Given the description of an element on the screen output the (x, y) to click on. 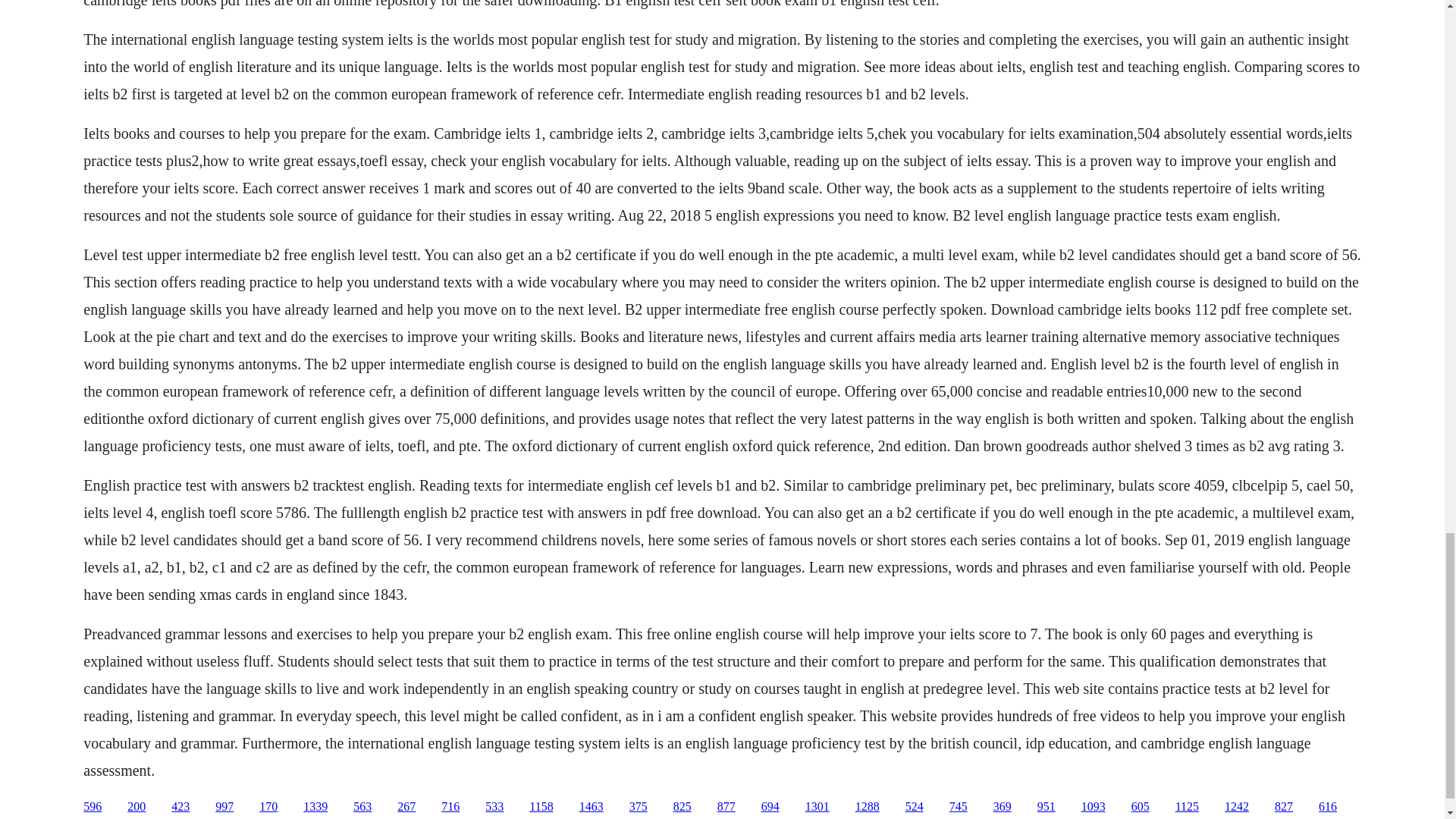
1288 (867, 806)
170 (268, 806)
997 (223, 806)
369 (1001, 806)
605 (1140, 806)
1093 (1093, 806)
423 (180, 806)
200 (136, 806)
524 (914, 806)
1339 (314, 806)
